Given the description of an element on the screen output the (x, y) to click on. 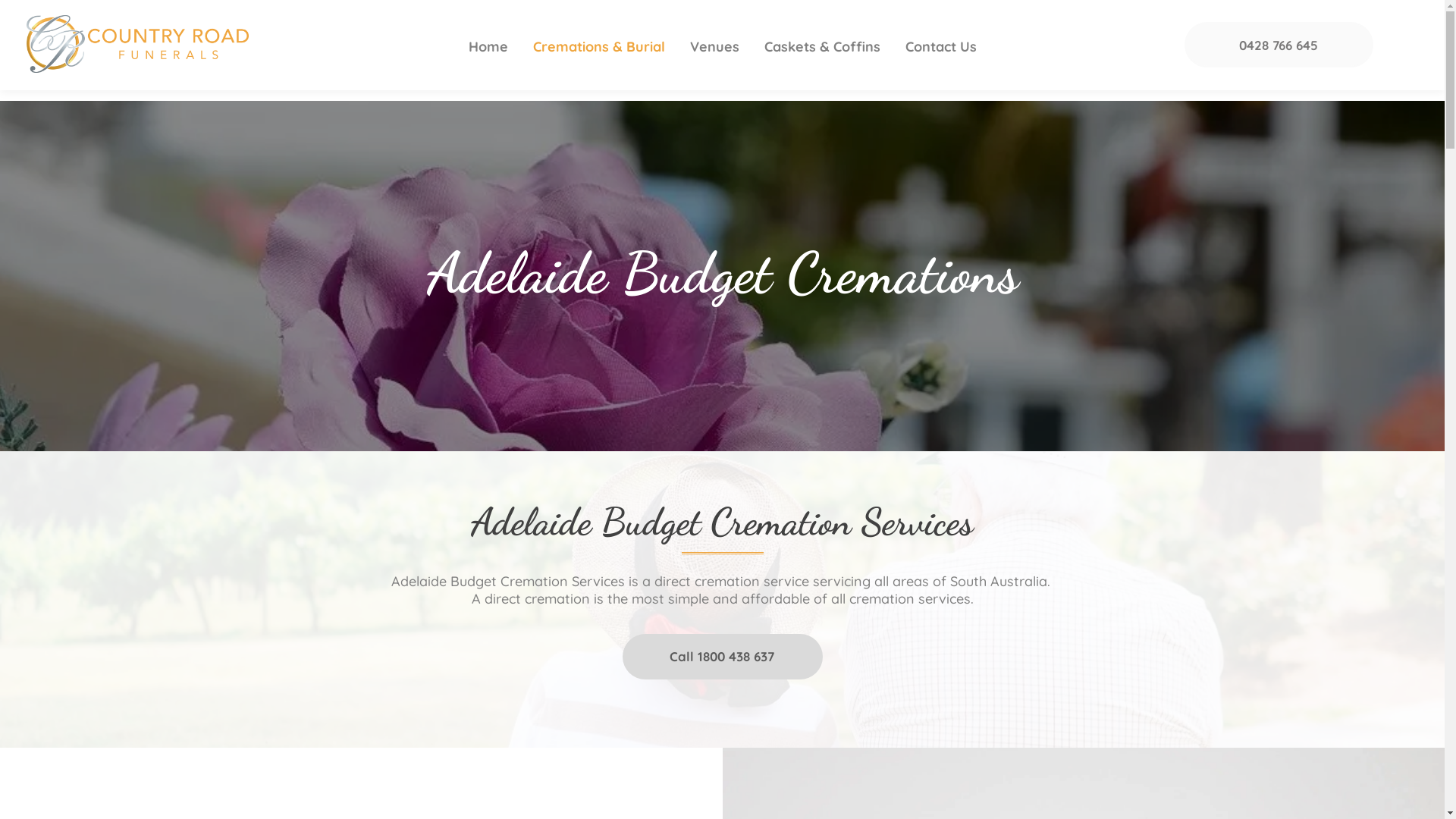
Contact Us Element type: text (940, 46)
Venues Element type: text (714, 46)
Call 1800 438 637 Element type: text (721, 656)
Home Element type: text (488, 46)
Caskets & Coffins Element type: text (822, 46)
Cremations & Burial Element type: text (598, 46)
0428 766 645 Element type: text (1278, 44)
